Given the description of an element on the screen output the (x, y) to click on. 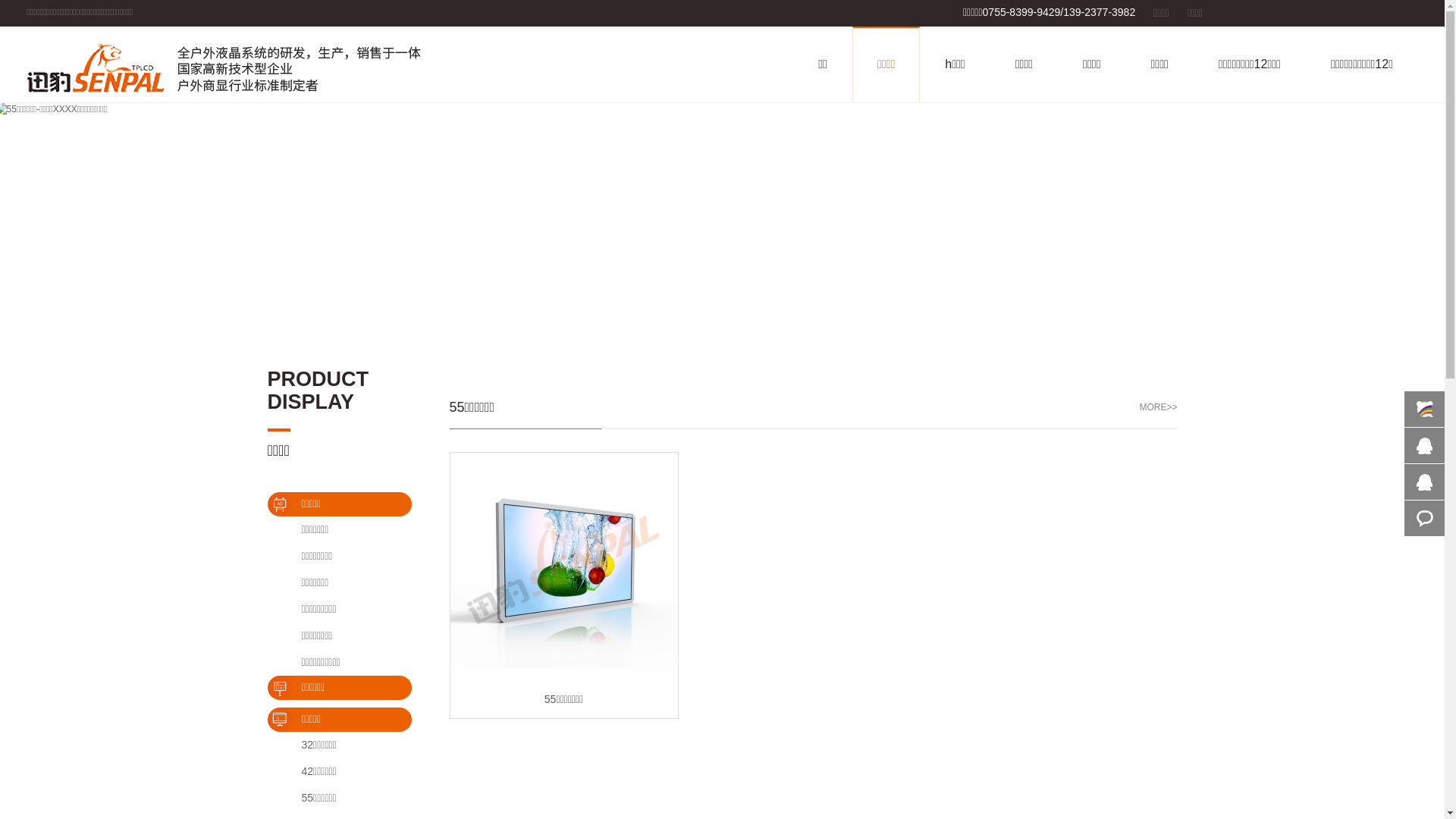
MORE>> Element type: text (1157, 407)
